Given the description of an element on the screen output the (x, y) to click on. 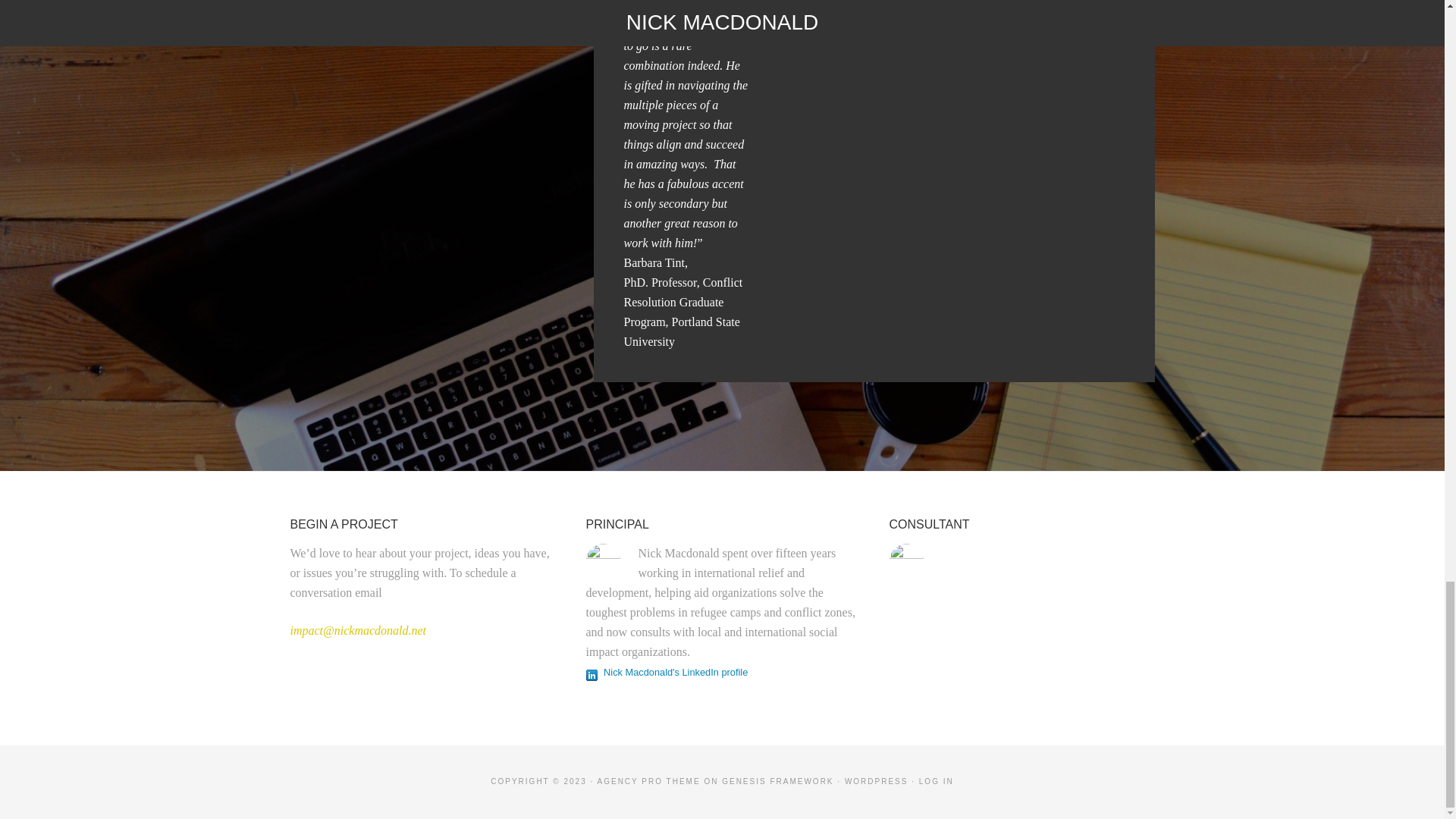
GENESIS FRAMEWORK (777, 781)
LOG IN (935, 781)
WORDPRESS (876, 781)
 Nick Macdonald's LinkedIn profile (666, 671)
AGENCY PRO THEME (648, 781)
